Given the description of an element on the screen output the (x, y) to click on. 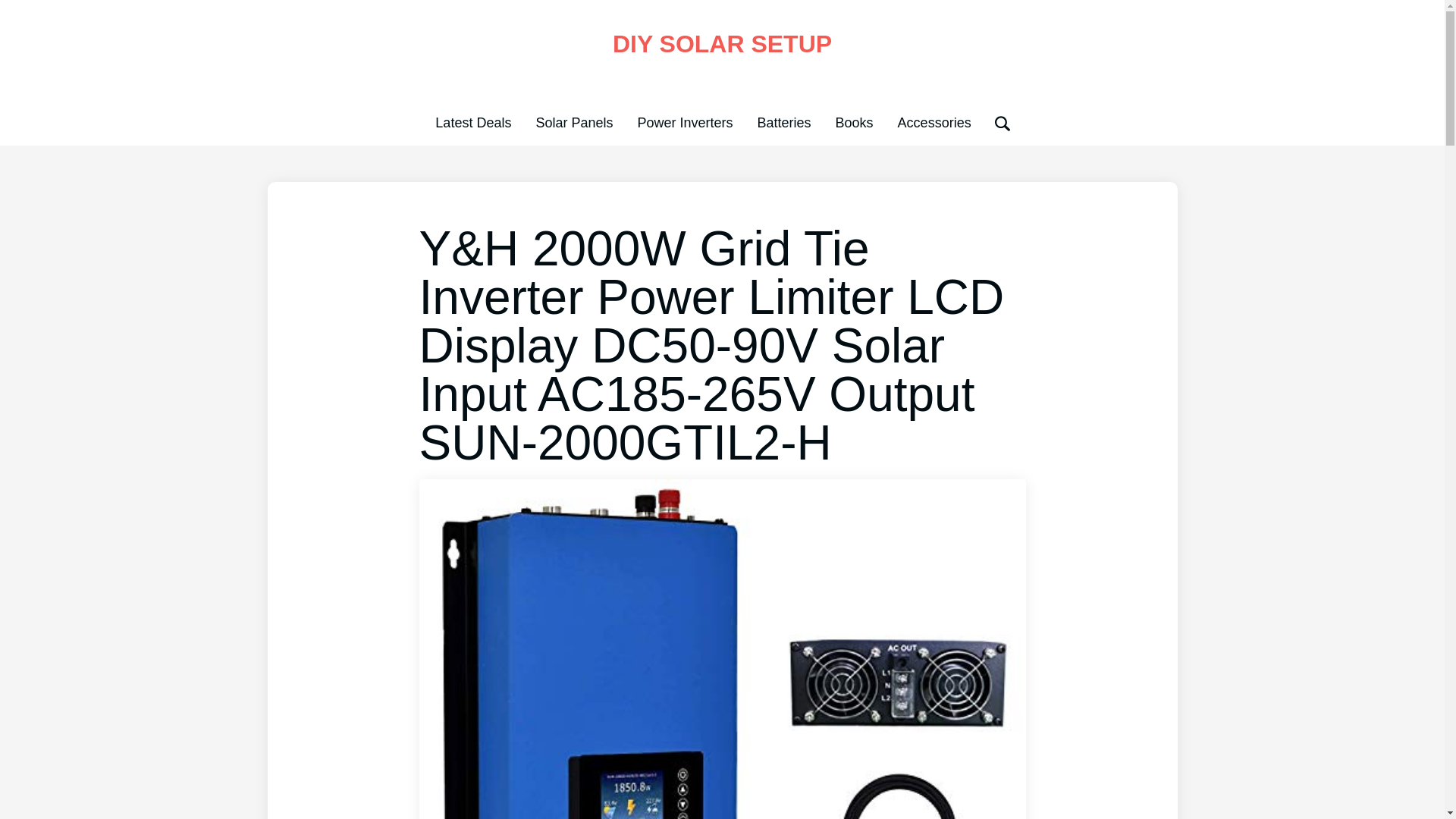
Accessories (934, 122)
Books (854, 122)
DIY SOLAR SETUP (721, 43)
Power Inverters (684, 122)
Latest Deals (473, 122)
Batteries (783, 122)
Solar Panels (573, 122)
